Given the description of an element on the screen output the (x, y) to click on. 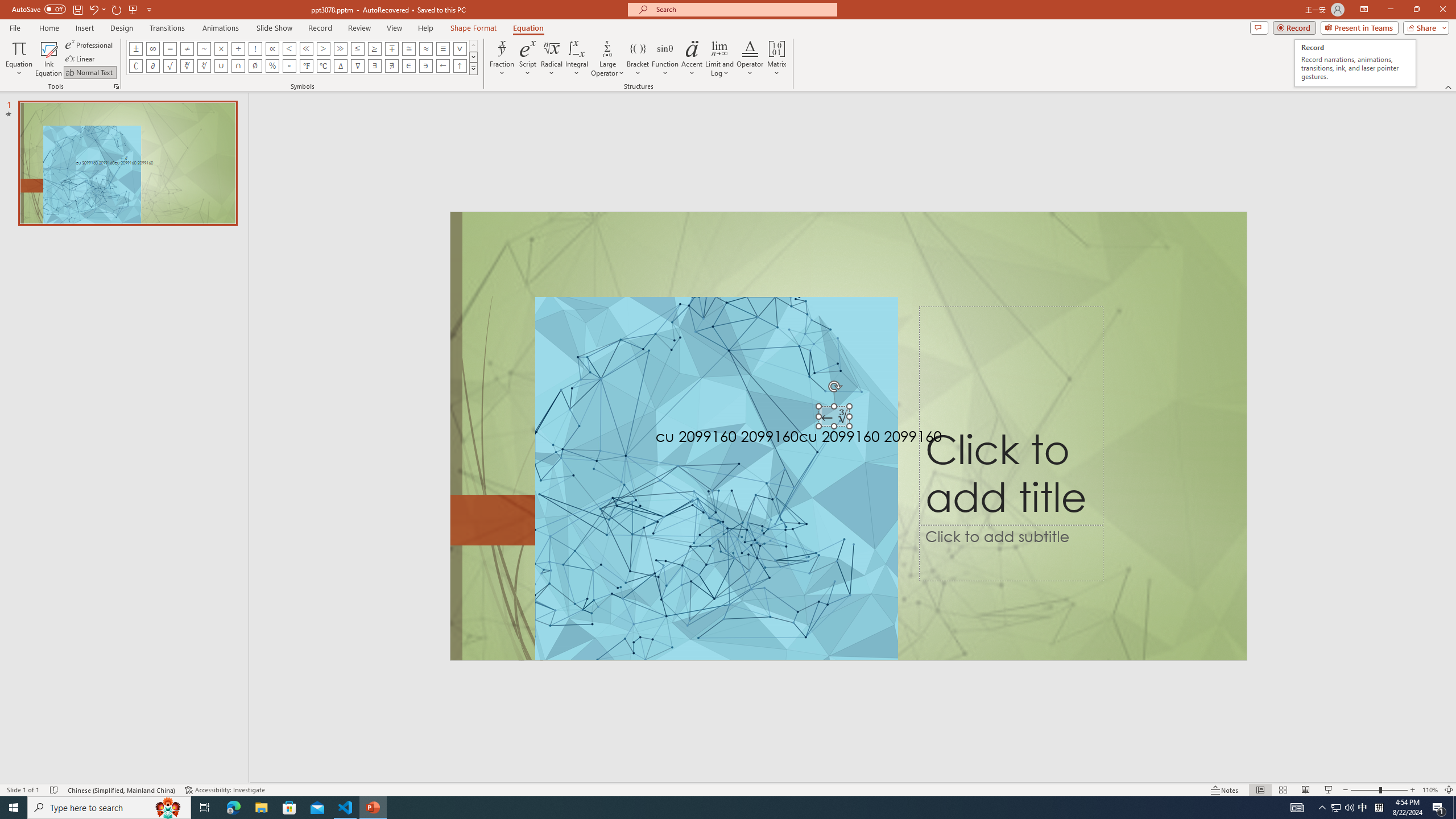
Equation Symbol Degrees (289, 65)
Equation Symbol Nabla (357, 65)
Equation Symbol Approximately Equal To (408, 48)
Equation (528, 28)
Normal Text (90, 72)
Equation Symbol Division Sign (238, 48)
Equation Symbol Equal (170, 48)
